Given the description of an element on the screen output the (x, y) to click on. 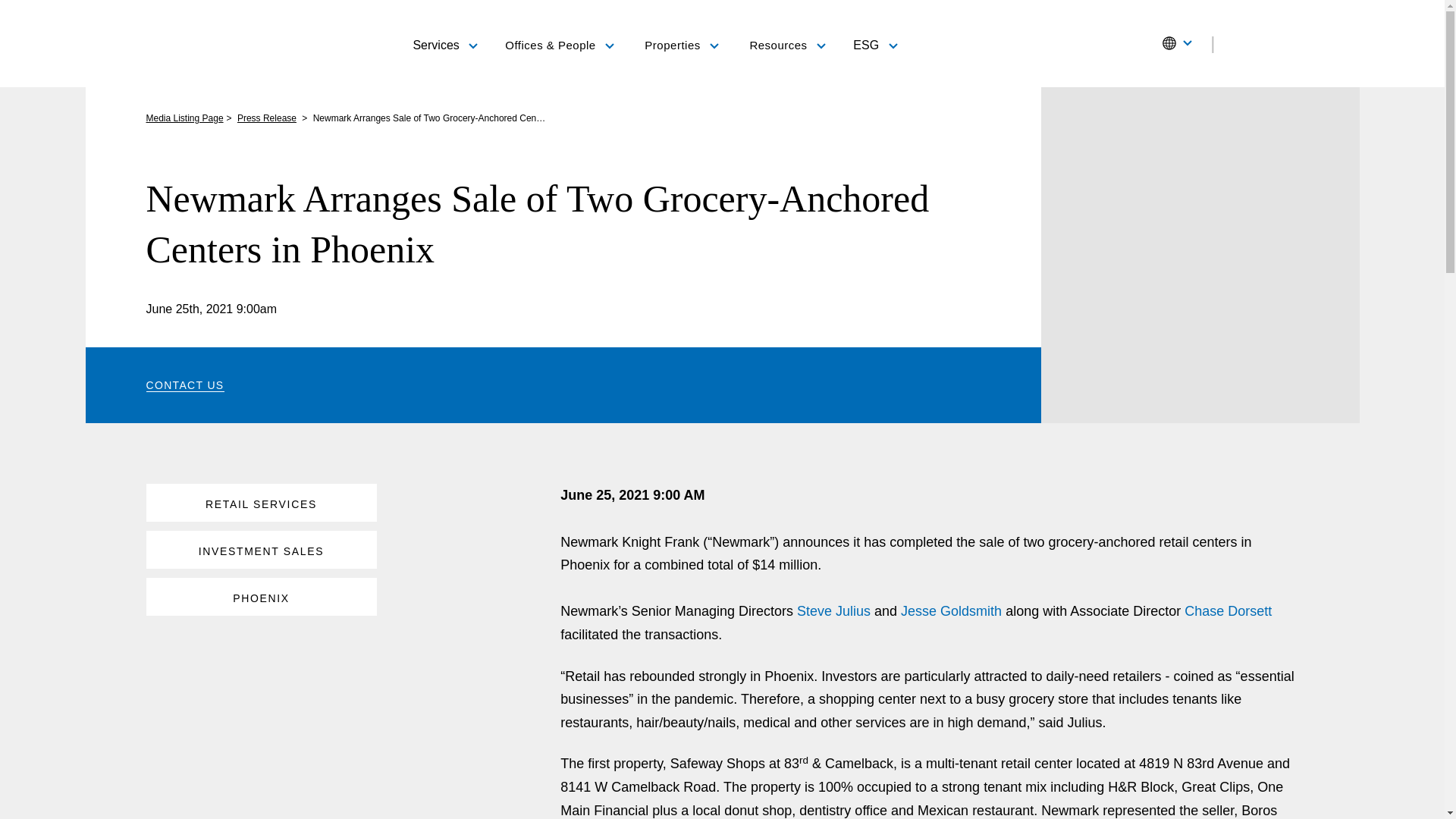
Resources (787, 45)
Services (444, 43)
Properties (682, 45)
